Given the description of an element on the screen output the (x, y) to click on. 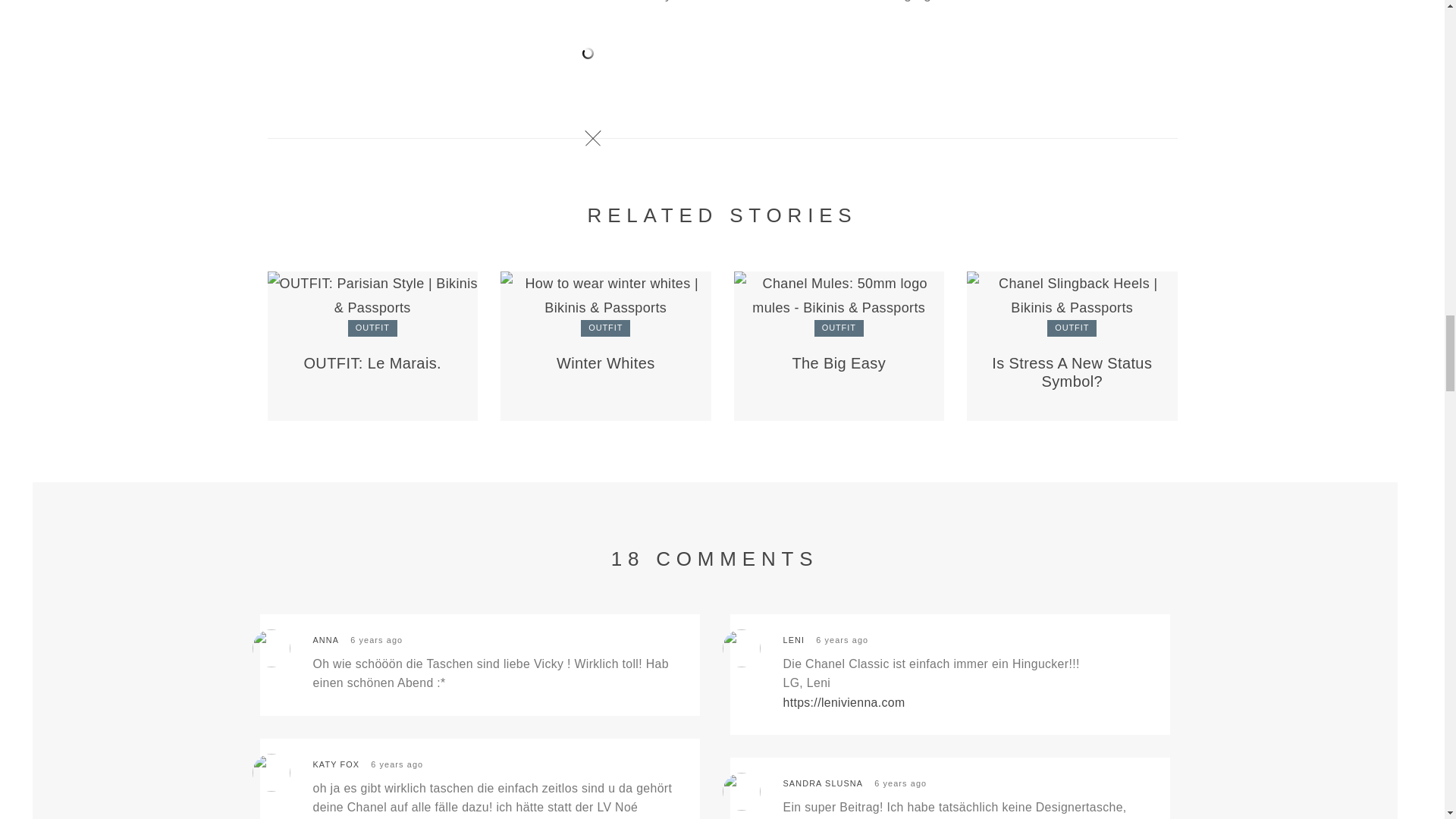
Winter Whites (605, 294)
Is Stress A New Status Symbol? (1071, 371)
The Big Easy (838, 362)
Is Stress A New Status Symbol? (1071, 294)
OUTFIT: Le Marais. (371, 362)
The Big Easy (838, 294)
Winter Whites (605, 362)
OUTFIT: Le Marais. (371, 294)
